Given the description of an element on the screen output the (x, y) to click on. 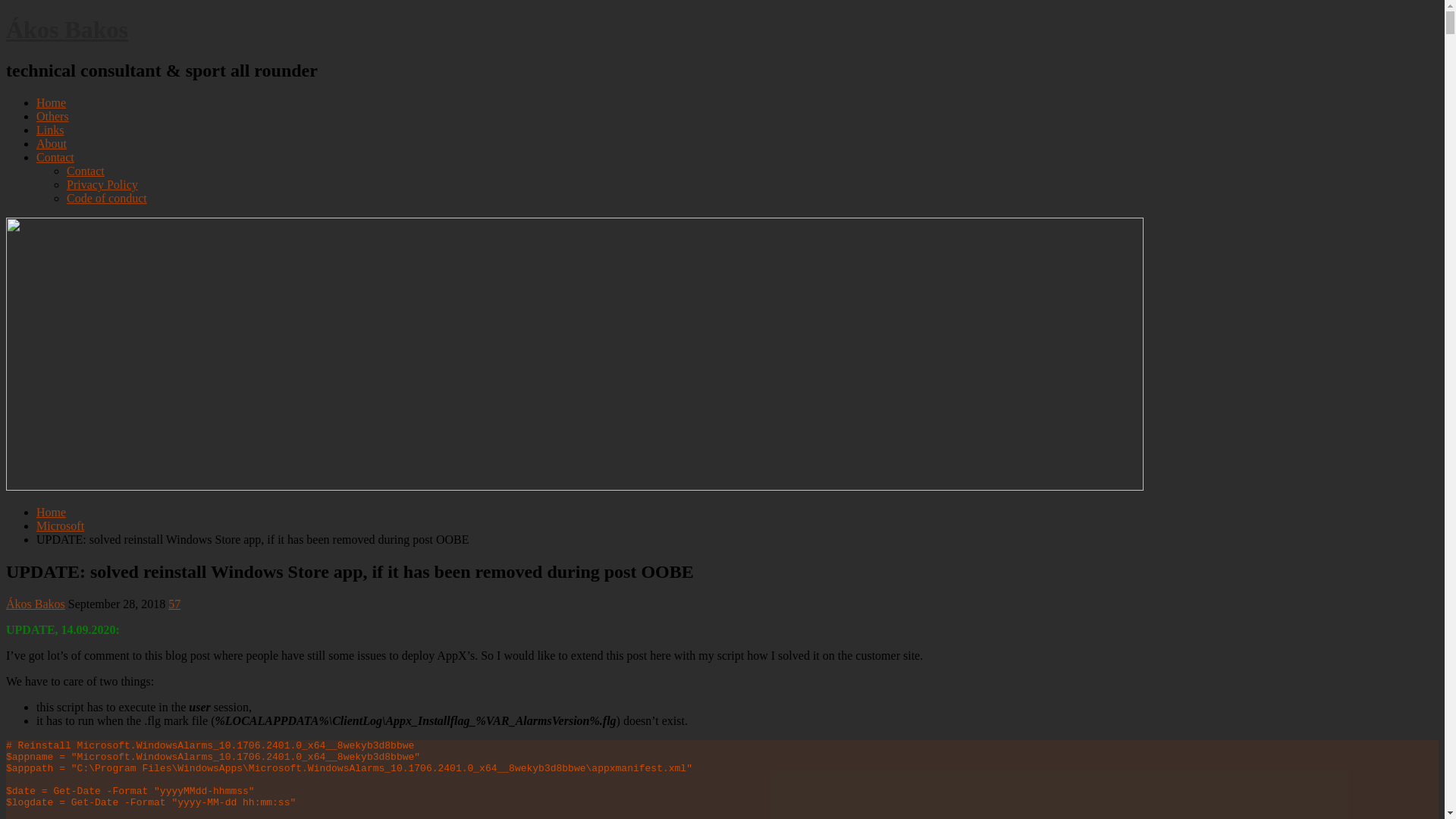
About Element type: text (51, 143)
Contact Element type: text (85, 170)
Main Menu Element type: text (5, 95)
Others Element type: text (52, 115)
Home Element type: text (50, 511)
Microsoft Element type: text (60, 525)
Home Element type: text (50, 102)
Privacy Policy Element type: text (102, 184)
Skip to content Element type: text (5, 15)
Links Element type: text (49, 129)
Code of conduct Element type: text (106, 197)
57 Element type: text (174, 603)
Contact Element type: text (55, 156)
